Given the description of an element on the screen output the (x, y) to click on. 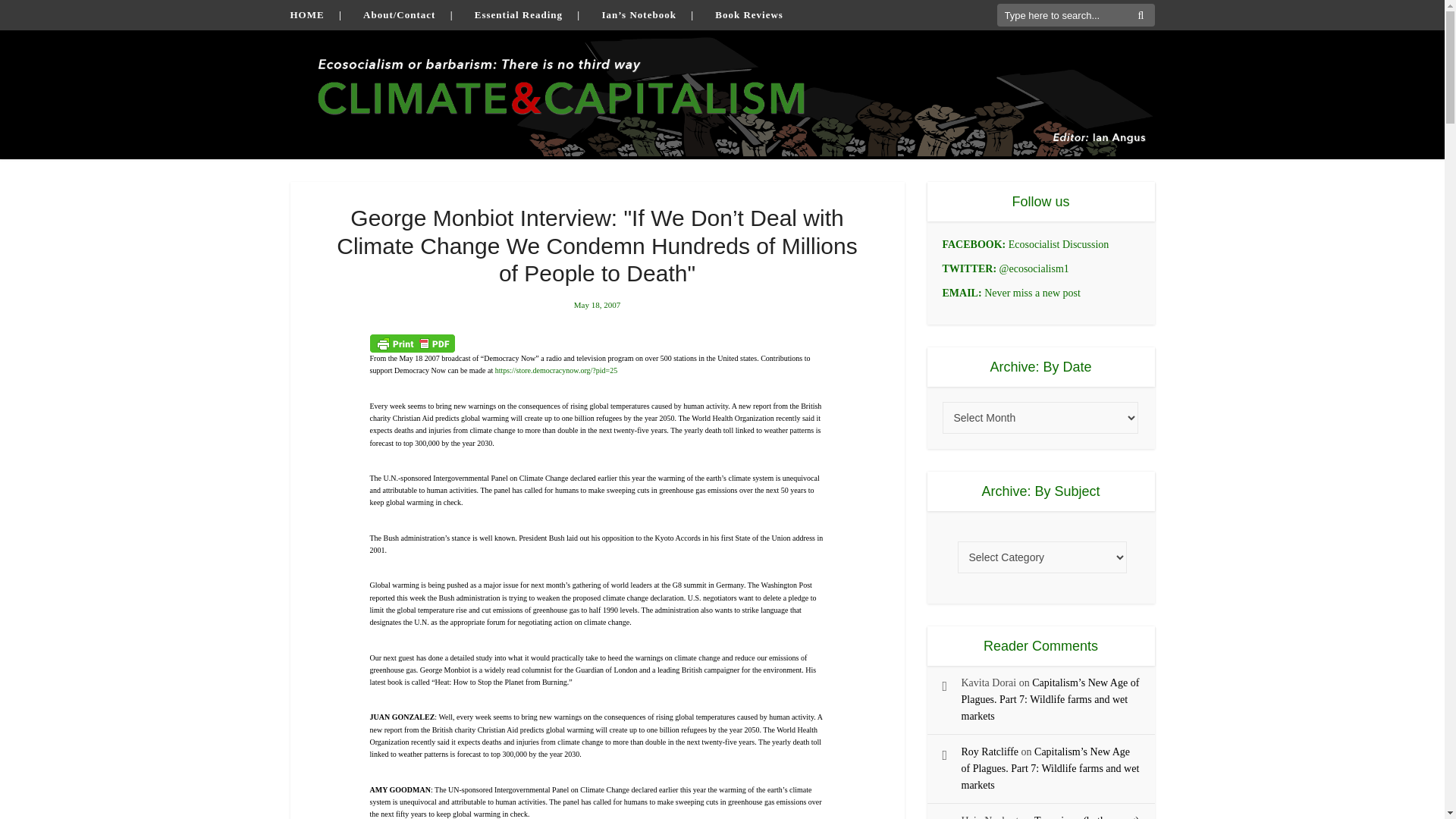
Type here to search... (1074, 15)
Book Reviews (748, 14)
HOME (306, 14)
Essential Reading (518, 14)
Type here to search... (1074, 15)
